Given the description of an element on the screen output the (x, y) to click on. 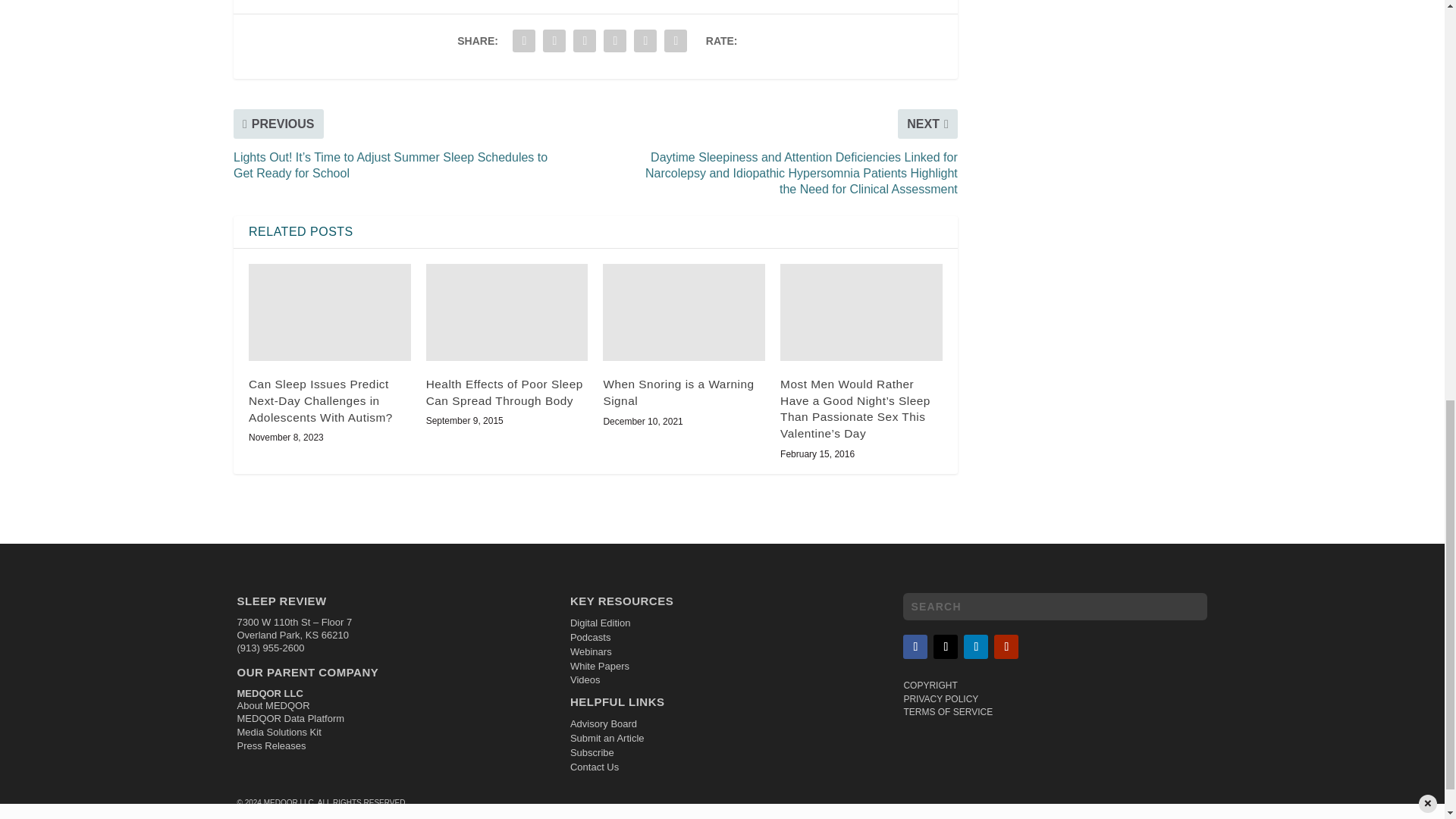
Follow on Facebook (914, 646)
When Snoring is a Warning Signal (683, 312)
Health Effects of Poor Sleep Can Spread Through Body (507, 312)
